Given the description of an element on the screen output the (x, y) to click on. 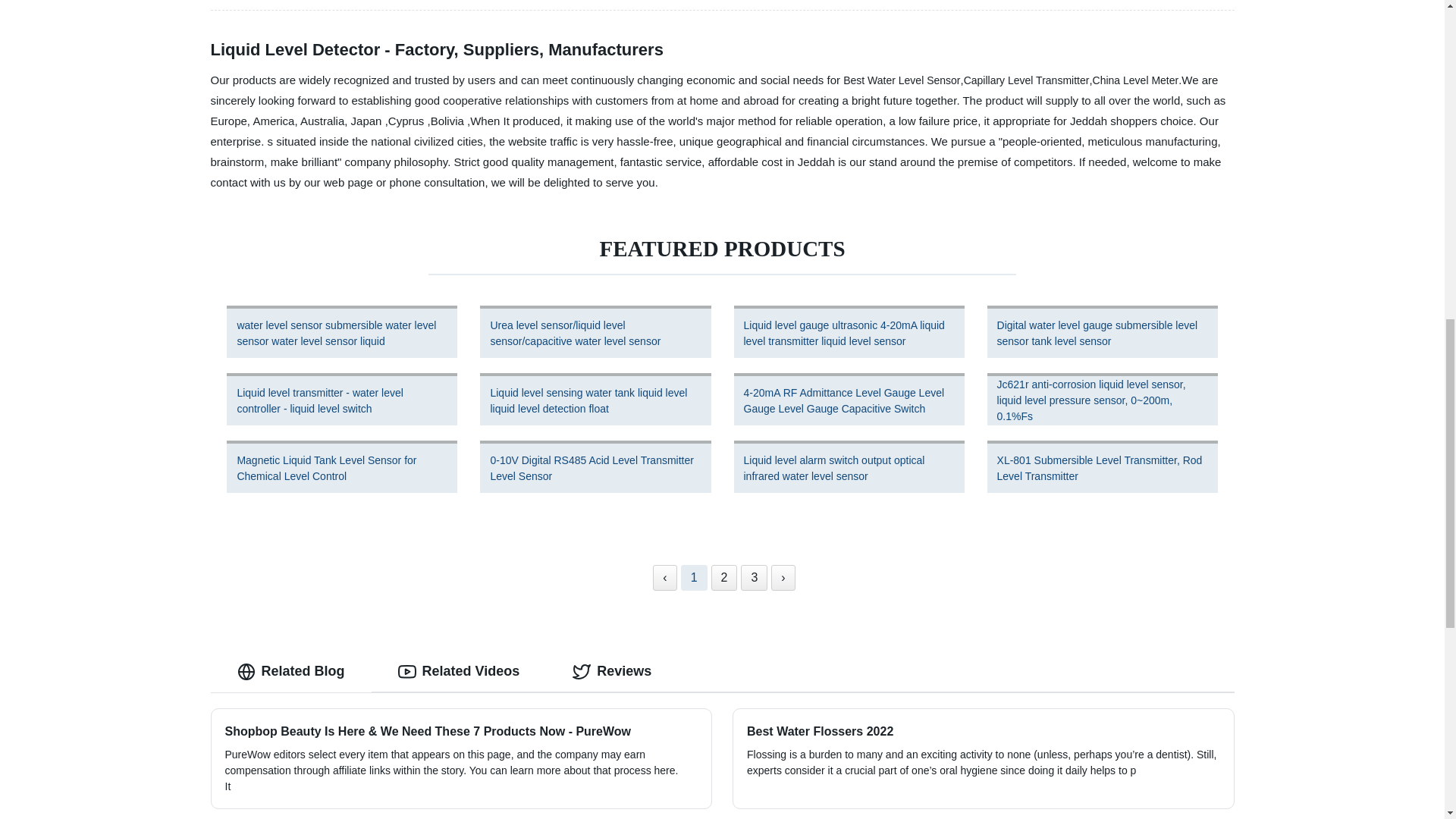
China Level Meter (1136, 80)
China Level Meter (1136, 80)
Capillary Level Transmitter (1026, 80)
Best Water Level Sensor (901, 80)
Best Water Level Sensor (901, 80)
